Given the description of an element on the screen output the (x, y) to click on. 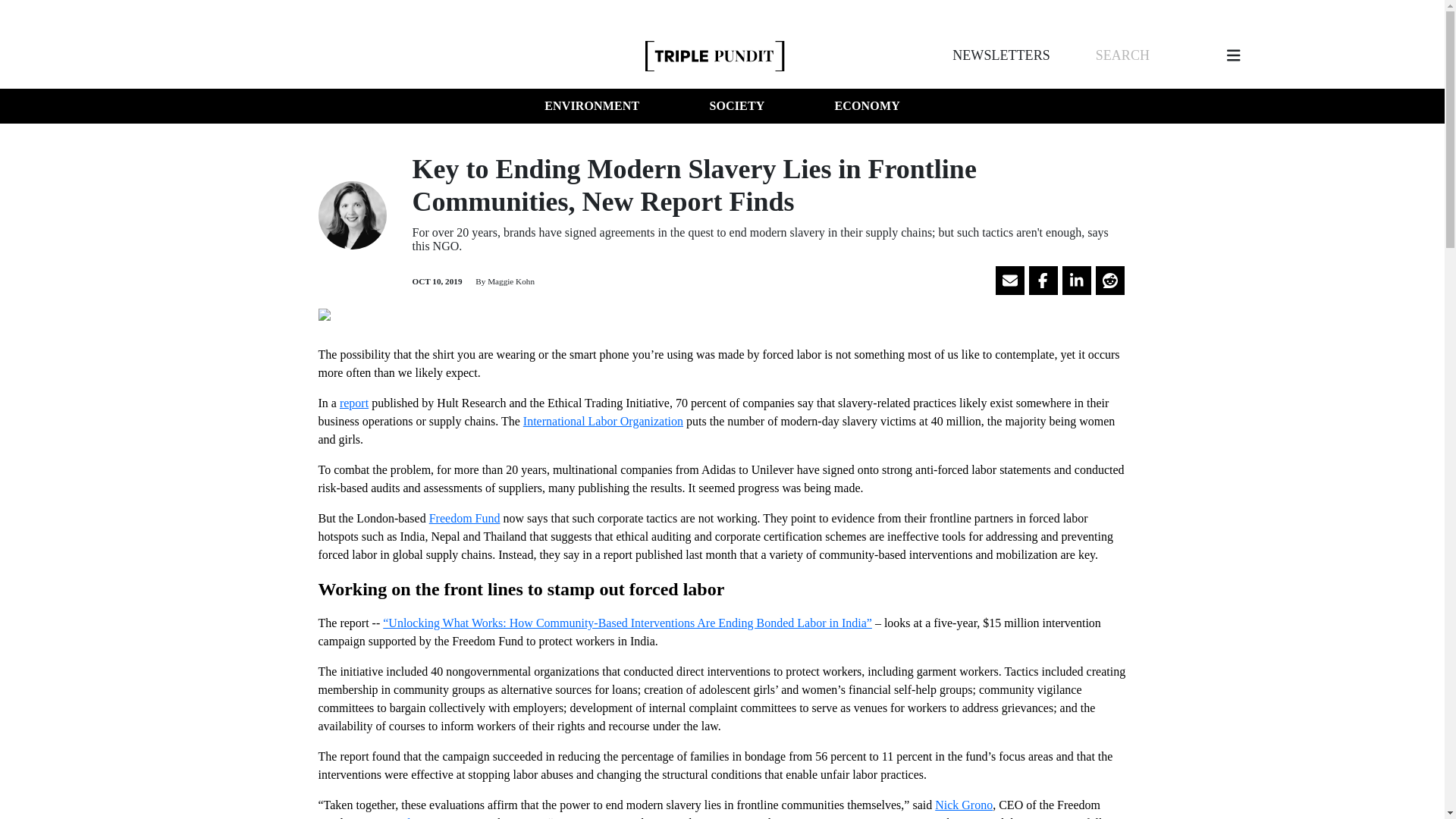
SOCIETY (736, 105)
report (353, 402)
press release (399, 817)
ECONOMY (866, 105)
Nick Grono (963, 804)
Freedom Fund (464, 517)
By Maggie Kohn (503, 280)
SEARCH (1122, 55)
International Labor Organization (602, 420)
ENVIRONMENT (591, 105)
